Given the description of an element on the screen output the (x, y) to click on. 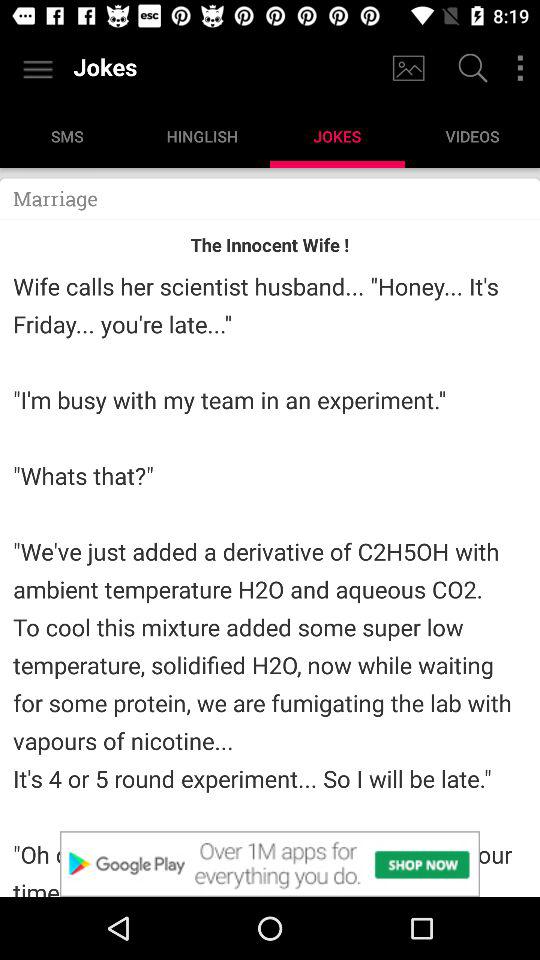
access advertisement (270, 864)
